Given the description of an element on the screen output the (x, y) to click on. 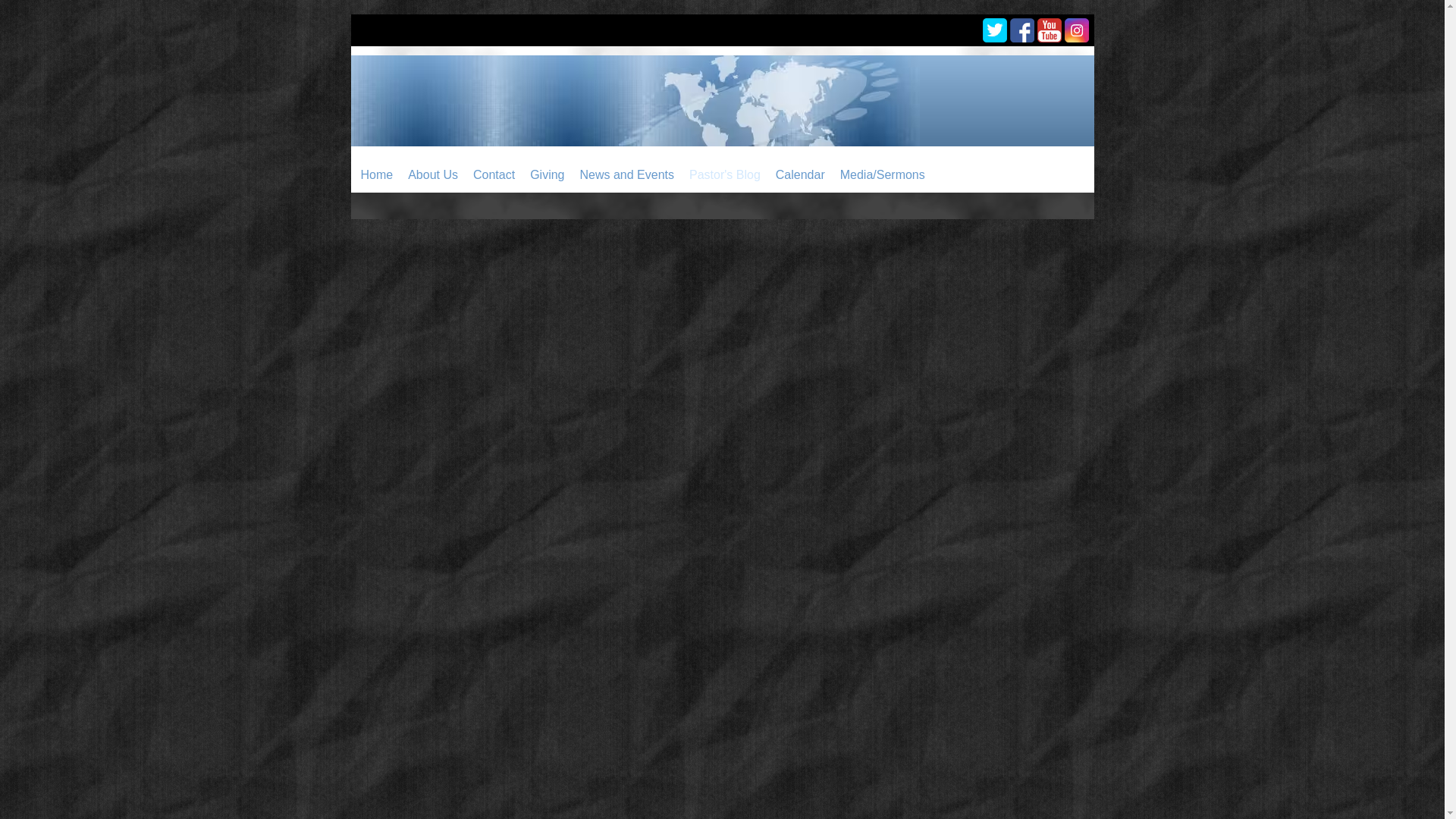
News and Events (626, 174)
About Us (432, 174)
Giving (547, 174)
Pastor's Blog (724, 174)
Home (377, 174)
Calendar (800, 174)
Contact (493, 174)
